Given the description of an element on the screen output the (x, y) to click on. 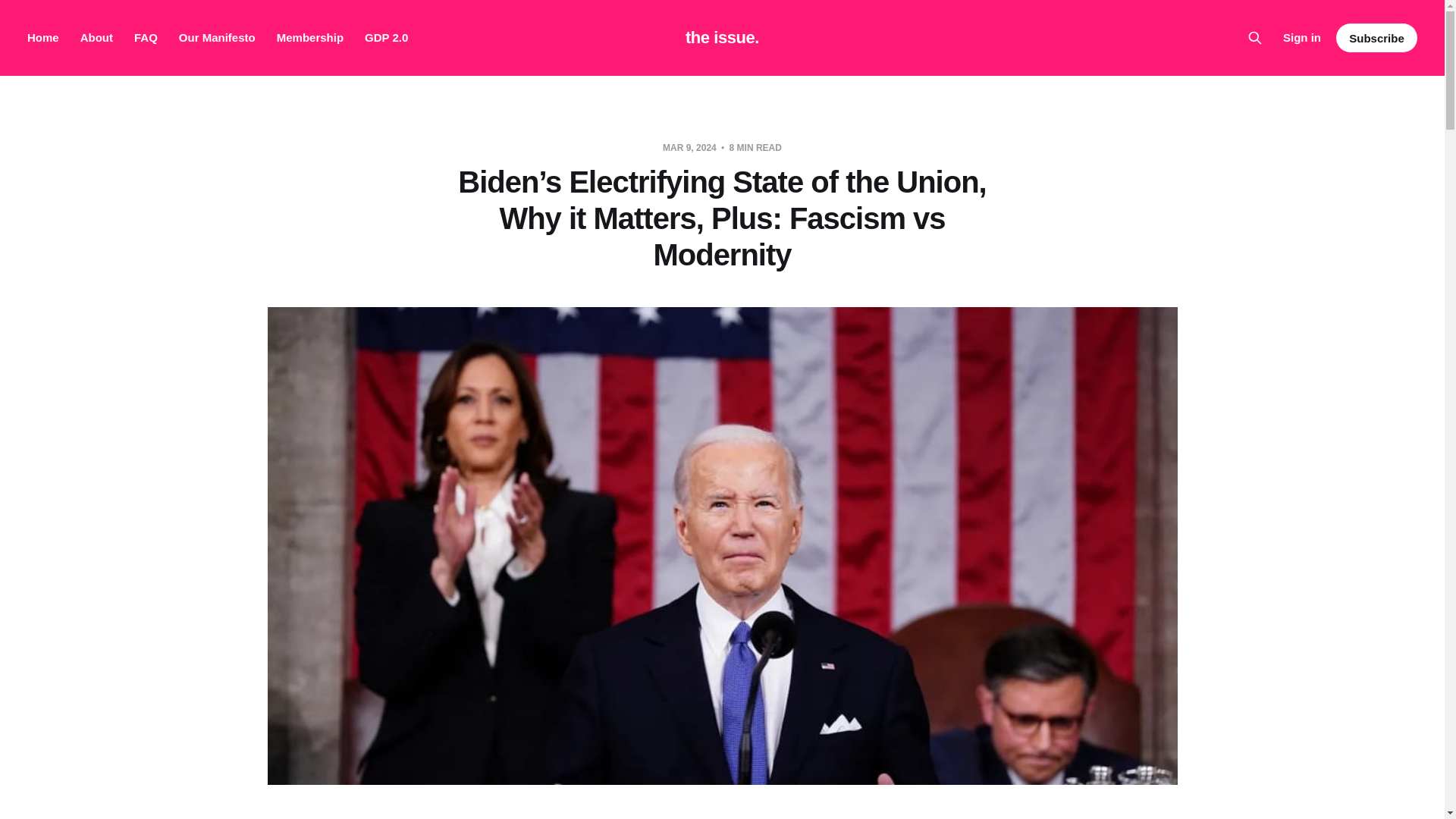
FAQ (145, 37)
Subscribe (1376, 37)
GDP 2.0 (386, 37)
Membership (309, 37)
Sign in (1301, 37)
Our Manifesto (217, 37)
the issue. (721, 37)
About (96, 37)
Home (43, 37)
